Given the description of an element on the screen output the (x, y) to click on. 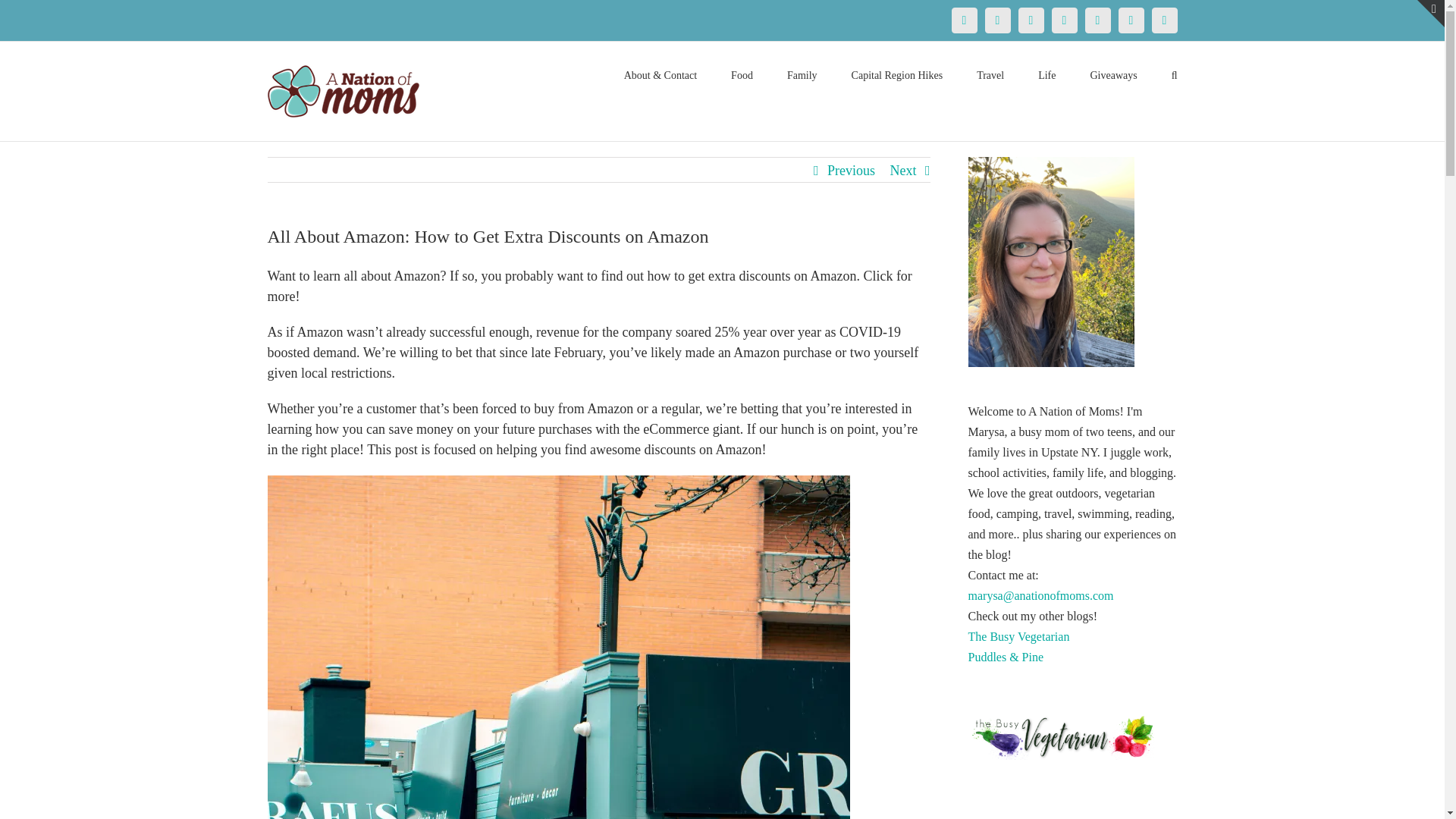
Twitter (997, 20)
Email (1163, 20)
Capital Region Hikes (897, 74)
YouTube (1096, 20)
Facebook (963, 20)
Pinterest (1030, 20)
Instagram (1064, 20)
